Given the description of an element on the screen output the (x, y) to click on. 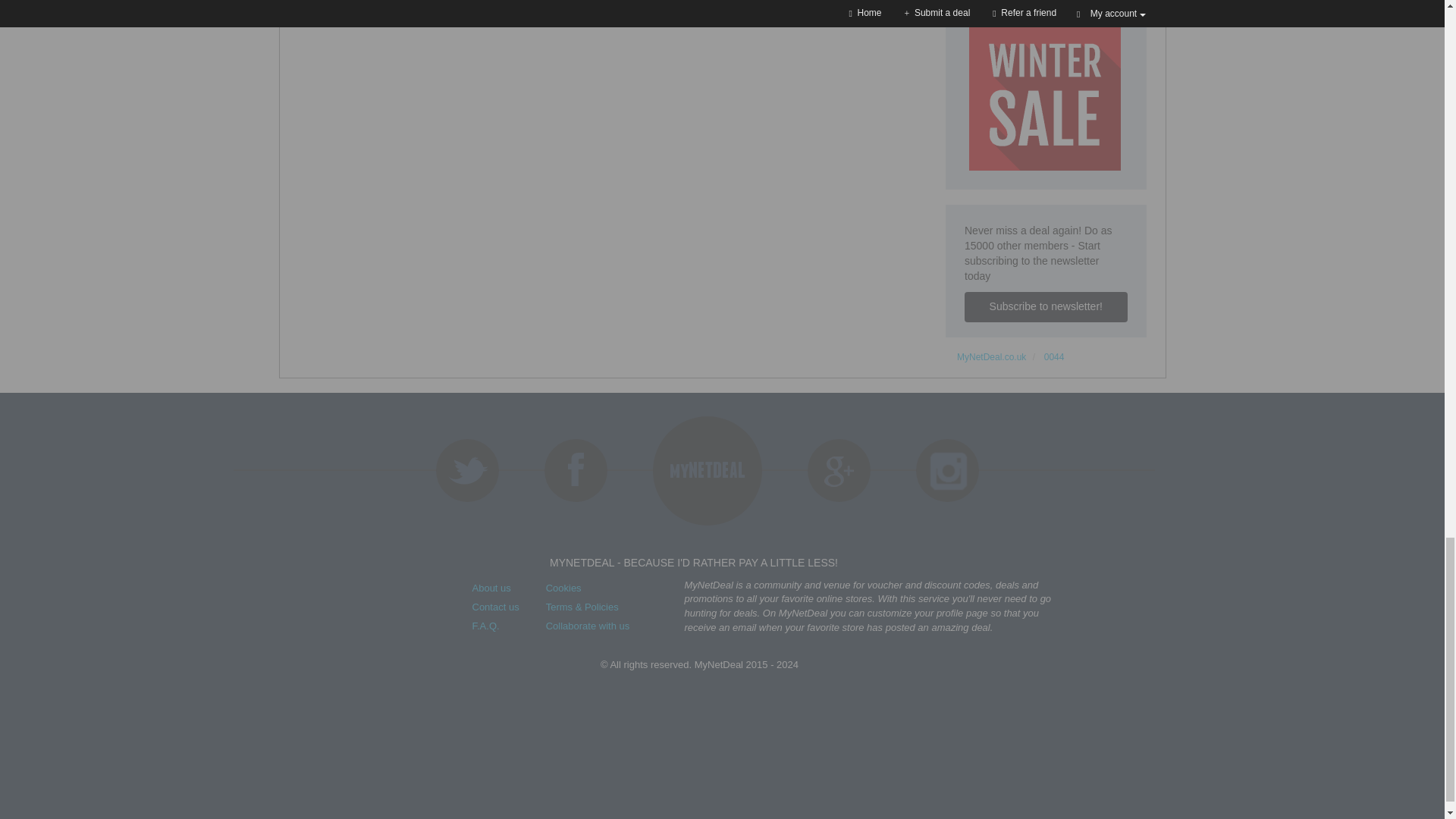
Winter Sale (1045, 94)
